Given the description of an element on the screen output the (x, y) to click on. 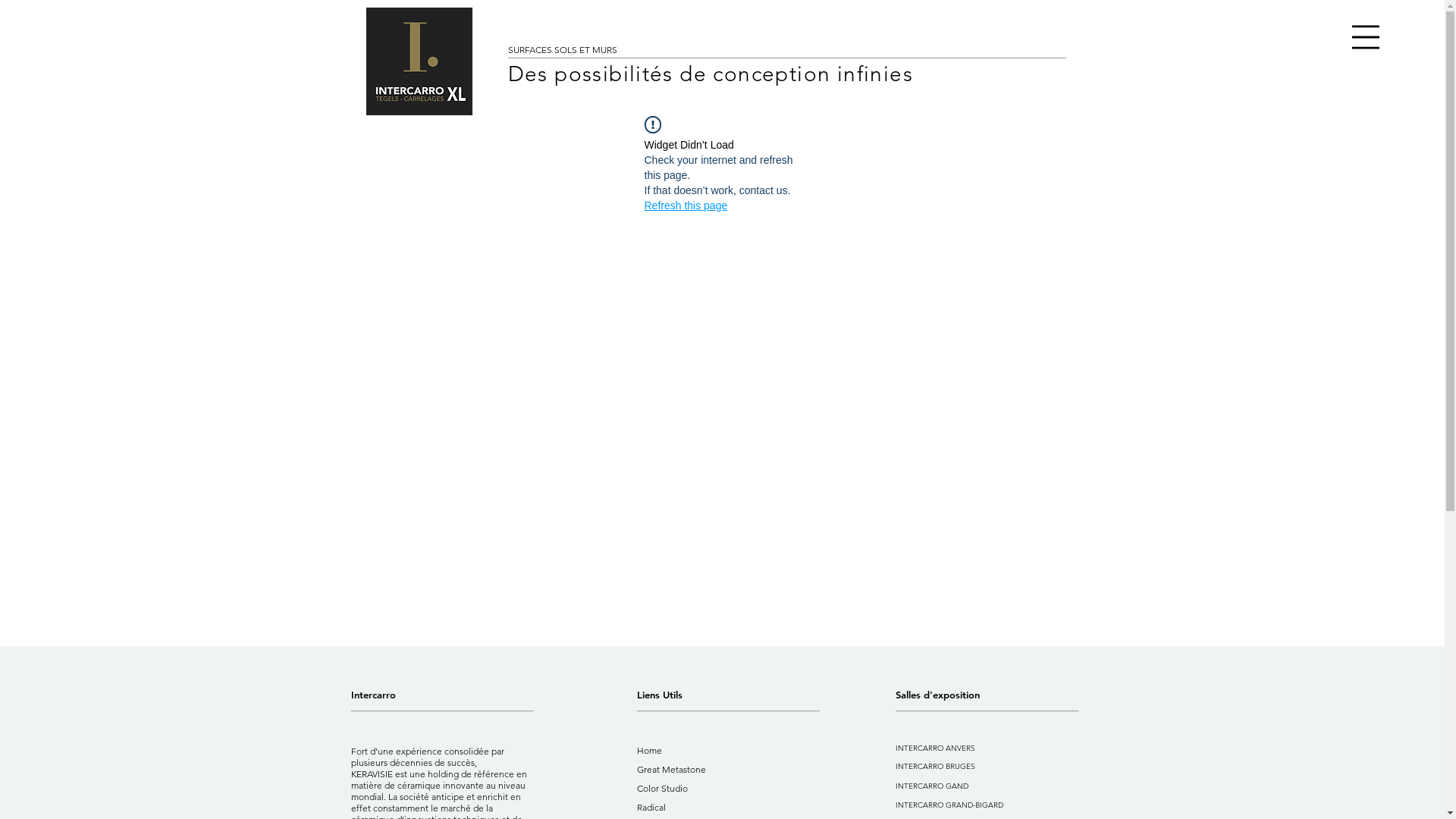
INTERCARRO GRAND-BIGARD Element type: text (965, 804)
INTERCARRO ANVERS Element type: text (965, 747)
Radical Element type: text (686, 806)
INTERCARRO BRUGES Element type: text (965, 766)
Home Element type: text (686, 749)
KERAVISIE Element type: text (371, 773)
Color Studio Element type: text (686, 787)
INTERCARRO GAND Element type: text (965, 785)
Great Metastone Element type: text (686, 768)
Refresh this page Element type: text (686, 205)
